Given the description of an element on the screen output the (x, y) to click on. 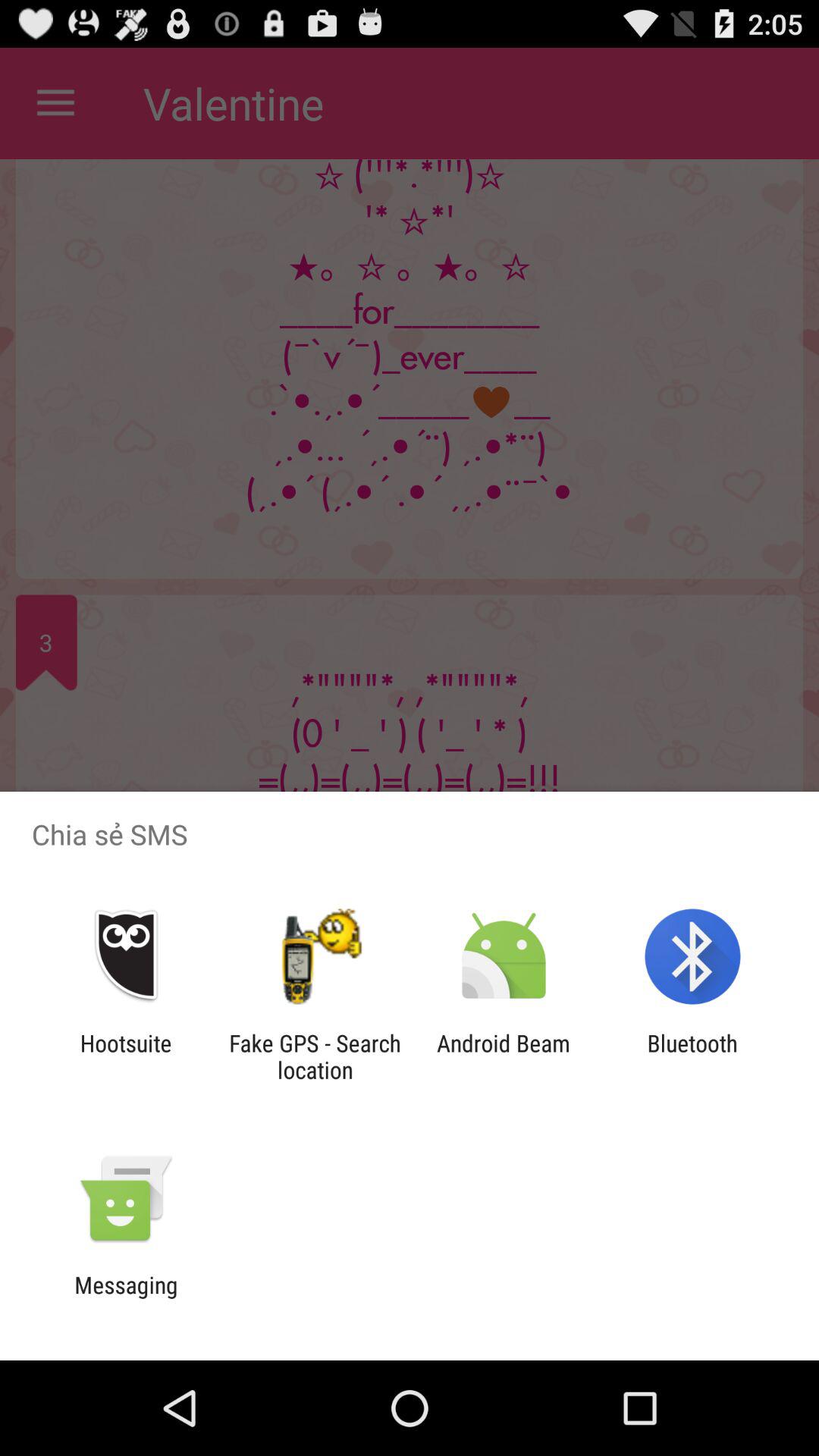
launch bluetooth (692, 1056)
